Given the description of an element on the screen output the (x, y) to click on. 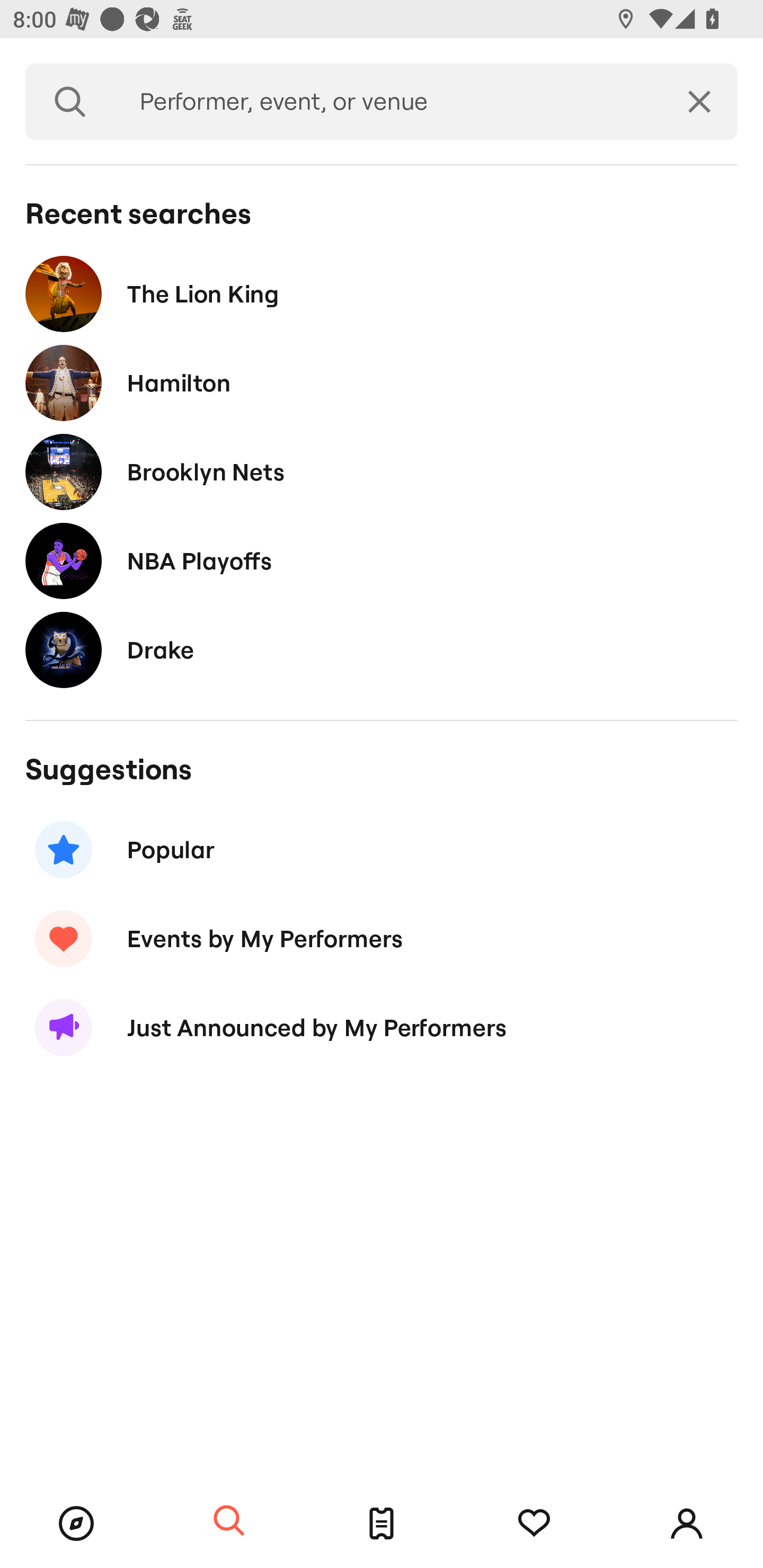
Search (69, 101)
Performer, event, or venue (387, 101)
Clear (699, 101)
The Lion King (381, 293)
Hamilton (381, 383)
Brooklyn Nets (381, 471)
NBA Playoffs (381, 560)
Drake (381, 649)
Popular (381, 849)
Events by My Performers (381, 938)
Just Announced by My Performers (381, 1027)
Browse (76, 1523)
Search (228, 1521)
Tickets (381, 1523)
Tracking (533, 1523)
Account (686, 1523)
